Given the description of an element on the screen output the (x, y) to click on. 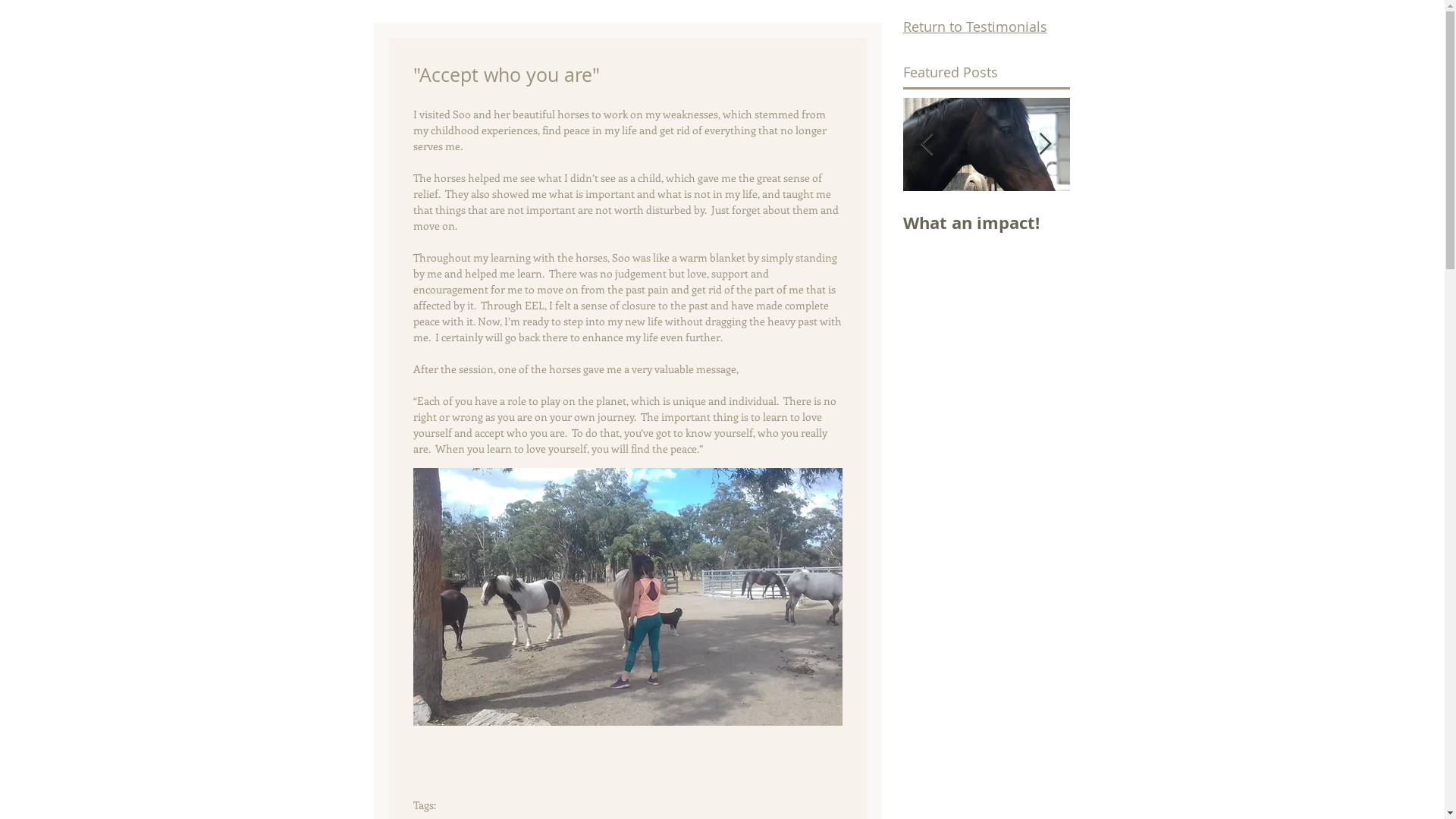
Return to Testimonials Element type: text (974, 26)
Supported Experiential Learning Environment Element type: text (961, 245)
What an impact! Element type: text (1124, 222)
